Given the description of an element on the screen output the (x, y) to click on. 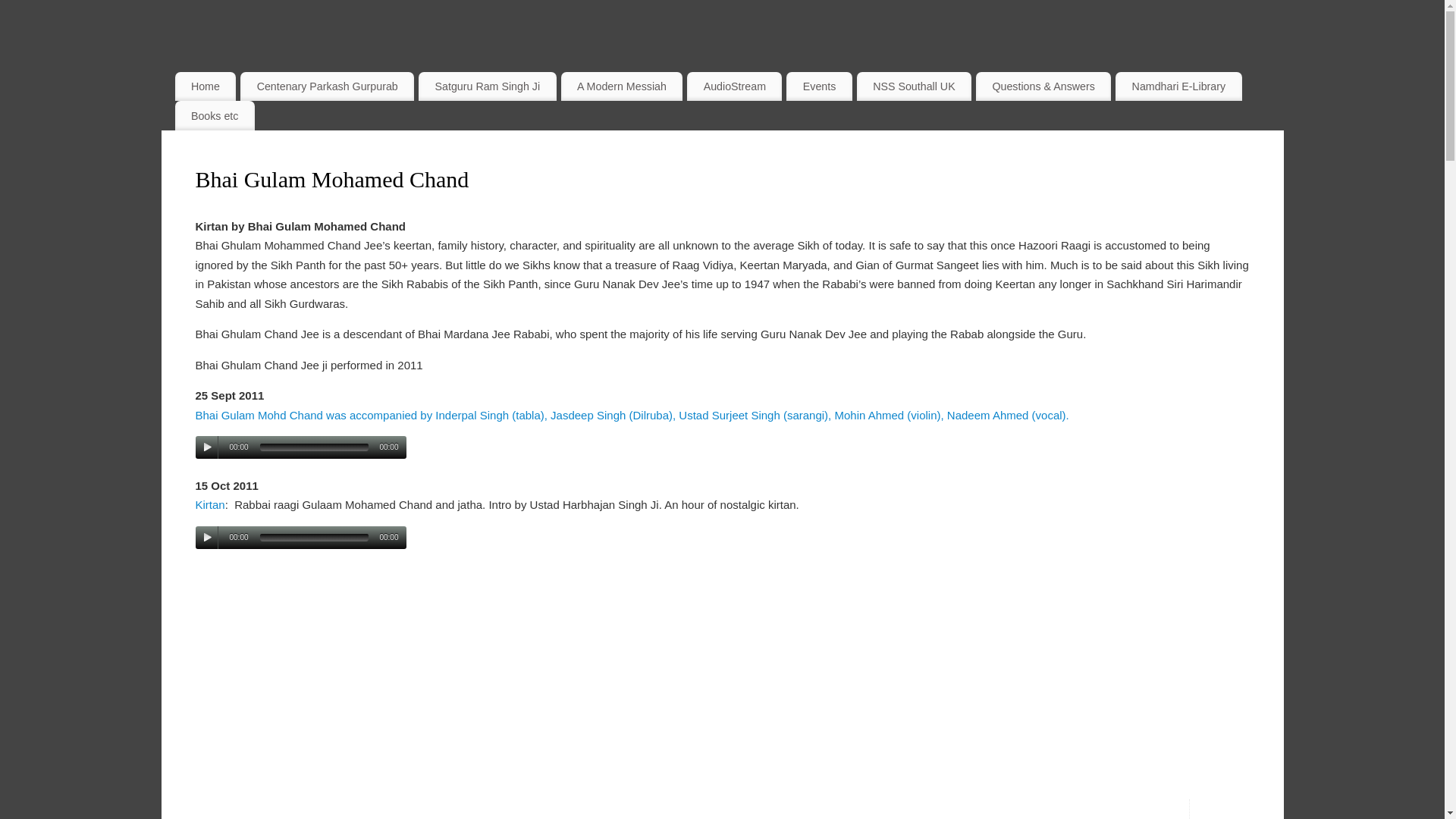
Centenary Parkash Gurpurab (326, 86)
Home (204, 86)
AudioStream (734, 86)
Satguru Ram Singh Ji (487, 86)
A Modern Messiah (621, 86)
